Given the description of an element on the screen output the (x, y) to click on. 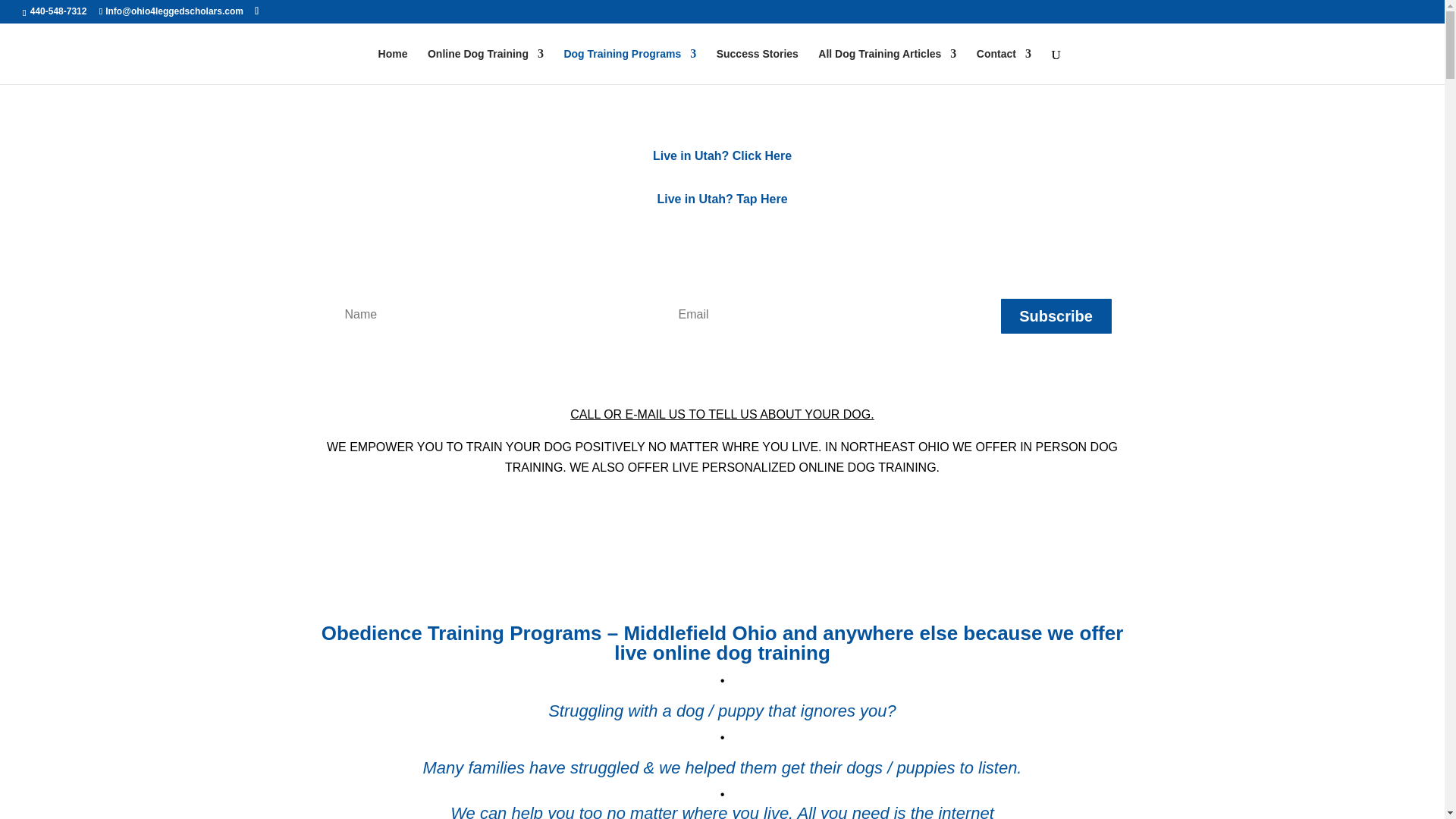
Success Stories (756, 66)
440-548-7312 (56, 10)
Subscribe (1055, 315)
Dog Training Programs (629, 66)
All Dog Training Articles (887, 66)
Contact (1003, 66)
Live in Utah? Tap Here (721, 198)
Live in Utah? Click Here (722, 155)
Online Dog Training (485, 66)
